Given the description of an element on the screen output the (x, y) to click on. 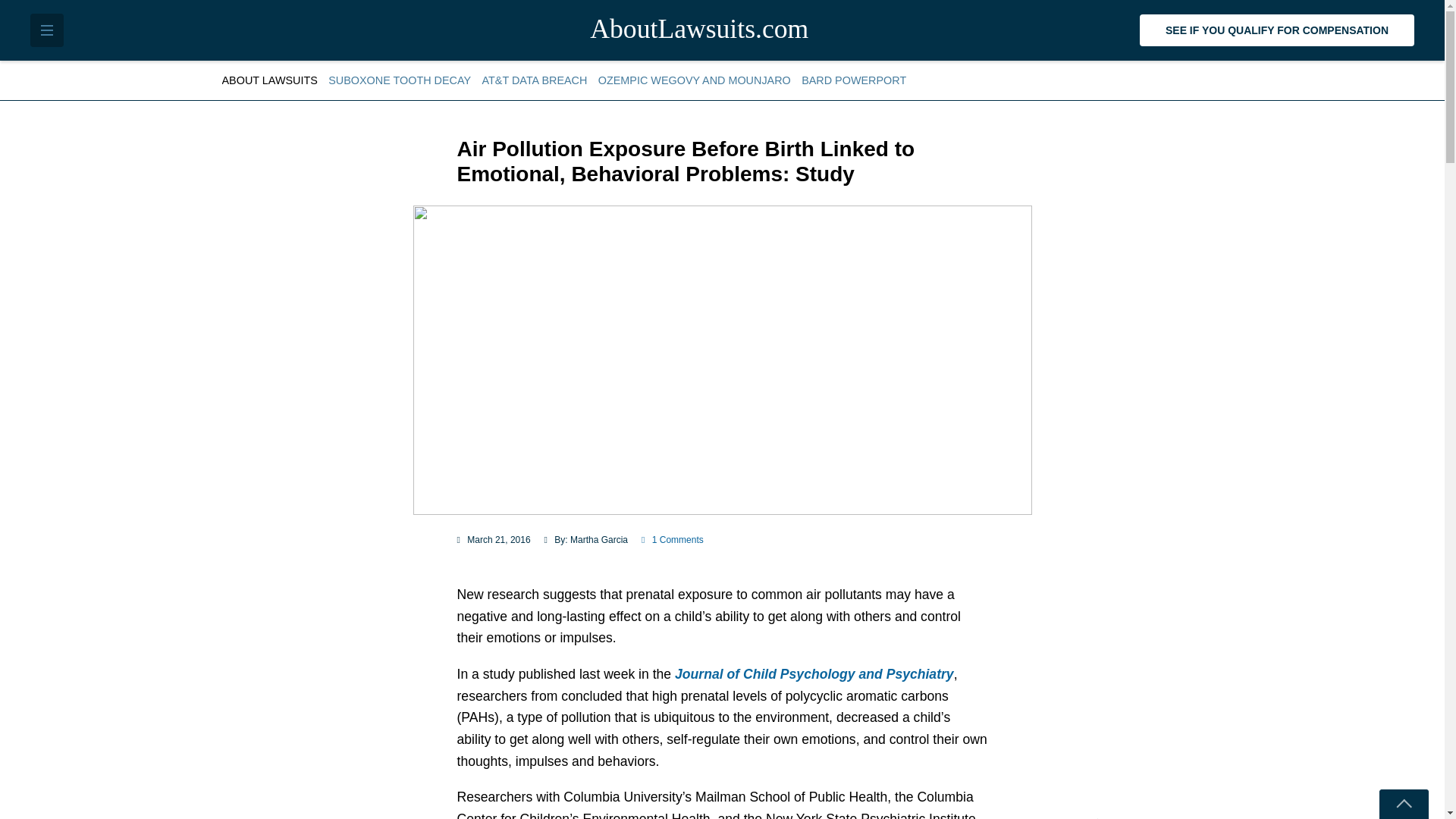
ABOUT LAWSUITS (272, 80)
Toggle newsletter signup form. (1403, 804)
Toggle Menu (47, 29)
SEE IF YOU QUALIFY FOR COMPENSATION (1276, 30)
AboutLawsuits.com (722, 30)
1 Comments (672, 539)
AboutLawsuits.com (722, 30)
OZEMPIC WEGOVY AND MOUNJARO (694, 80)
SUBOXONE TOOTH DECAY (399, 80)
BARD POWERPORT (853, 80)
